Given the description of an element on the screen output the (x, y) to click on. 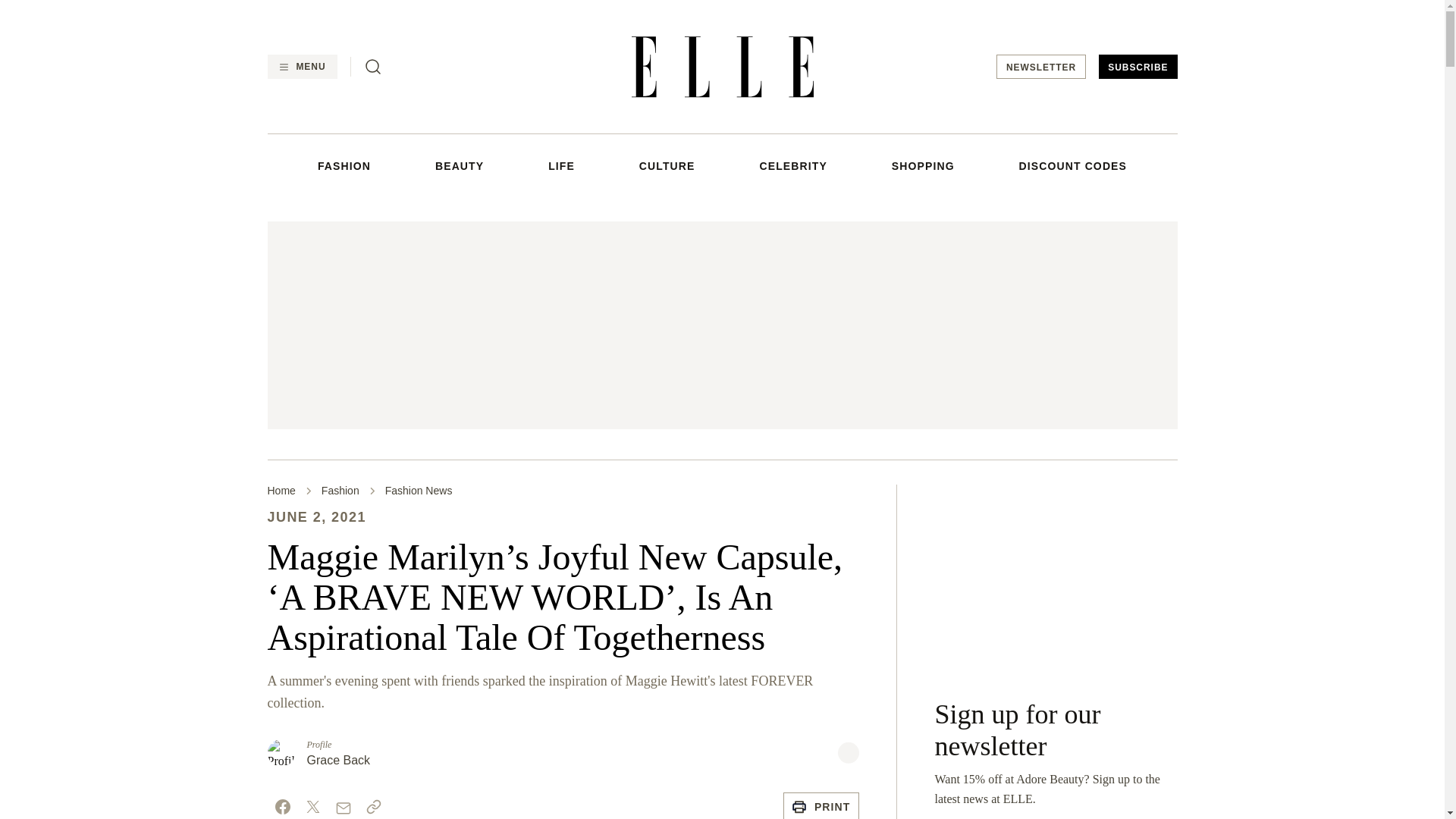
BEAUTY (459, 165)
DISCOUNT CODES (1072, 165)
CELEBRITY (792, 165)
MENU (301, 66)
LIFE (561, 165)
NEWSLETTER (1040, 66)
SUBSCRIBE (1137, 66)
SHOPPING (923, 165)
FASHION (344, 165)
CULTURE (667, 165)
